Given the description of an element on the screen output the (x, y) to click on. 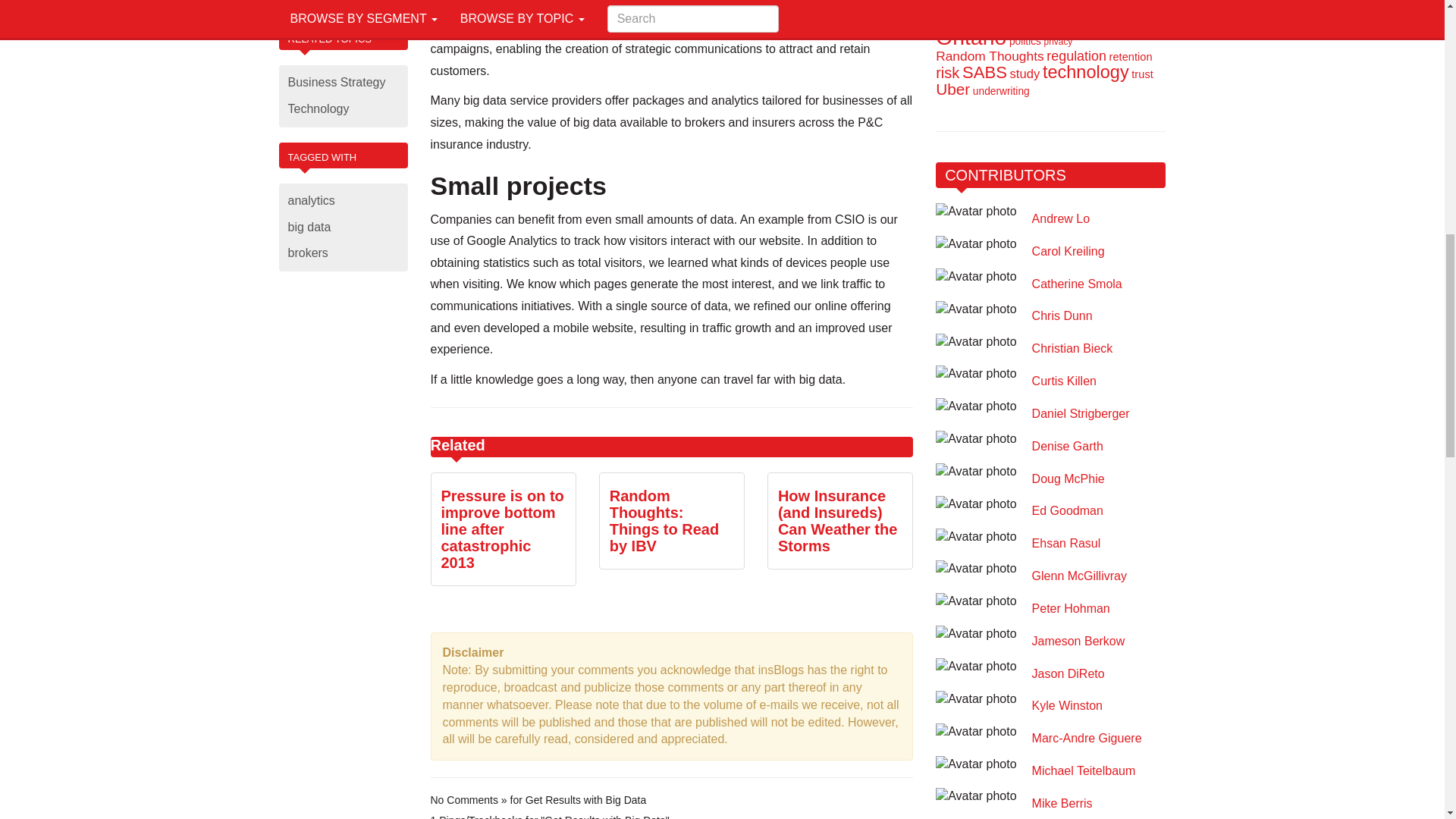
View Curtis Killen archive (1063, 381)
brokers (343, 253)
Business Strategy (343, 82)
View Catherine Smola archive (1076, 284)
big data (343, 227)
View Daniel Strigberger archive (1080, 414)
View Christian Bieck archive (1071, 348)
analytics (343, 201)
View Andrew Lo archive (1060, 219)
